Given the description of an element on the screen output the (x, y) to click on. 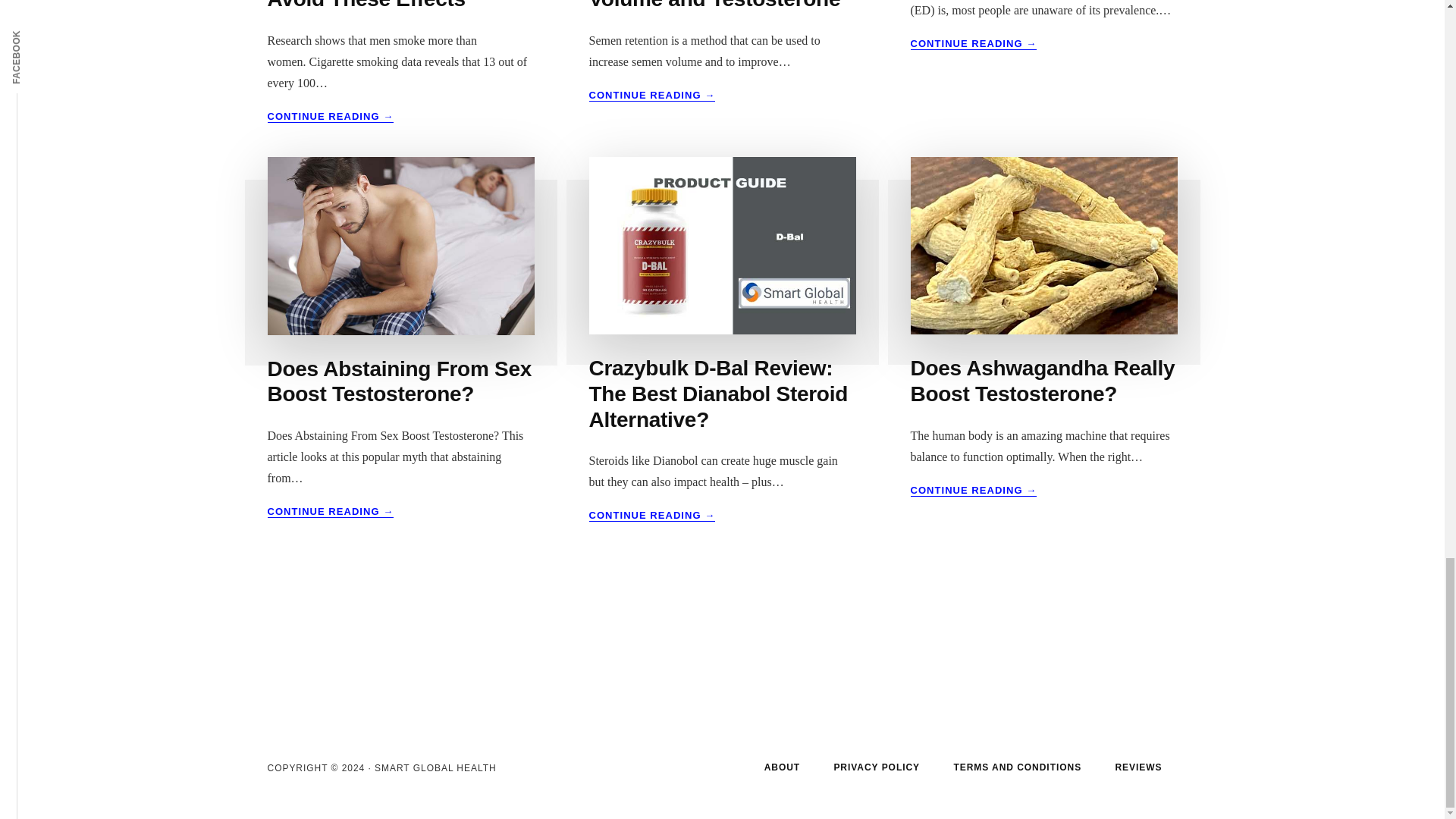
TERMS AND CONDITIONS (1016, 767)
ABOUT (782, 767)
PRIVACY POLICY (876, 767)
Does Abstaining From Sex Boost Testosterone? (398, 381)
Does Ashwagandha Really Boost Testosterone? (1042, 380)
